Given the description of an element on the screen output the (x, y) to click on. 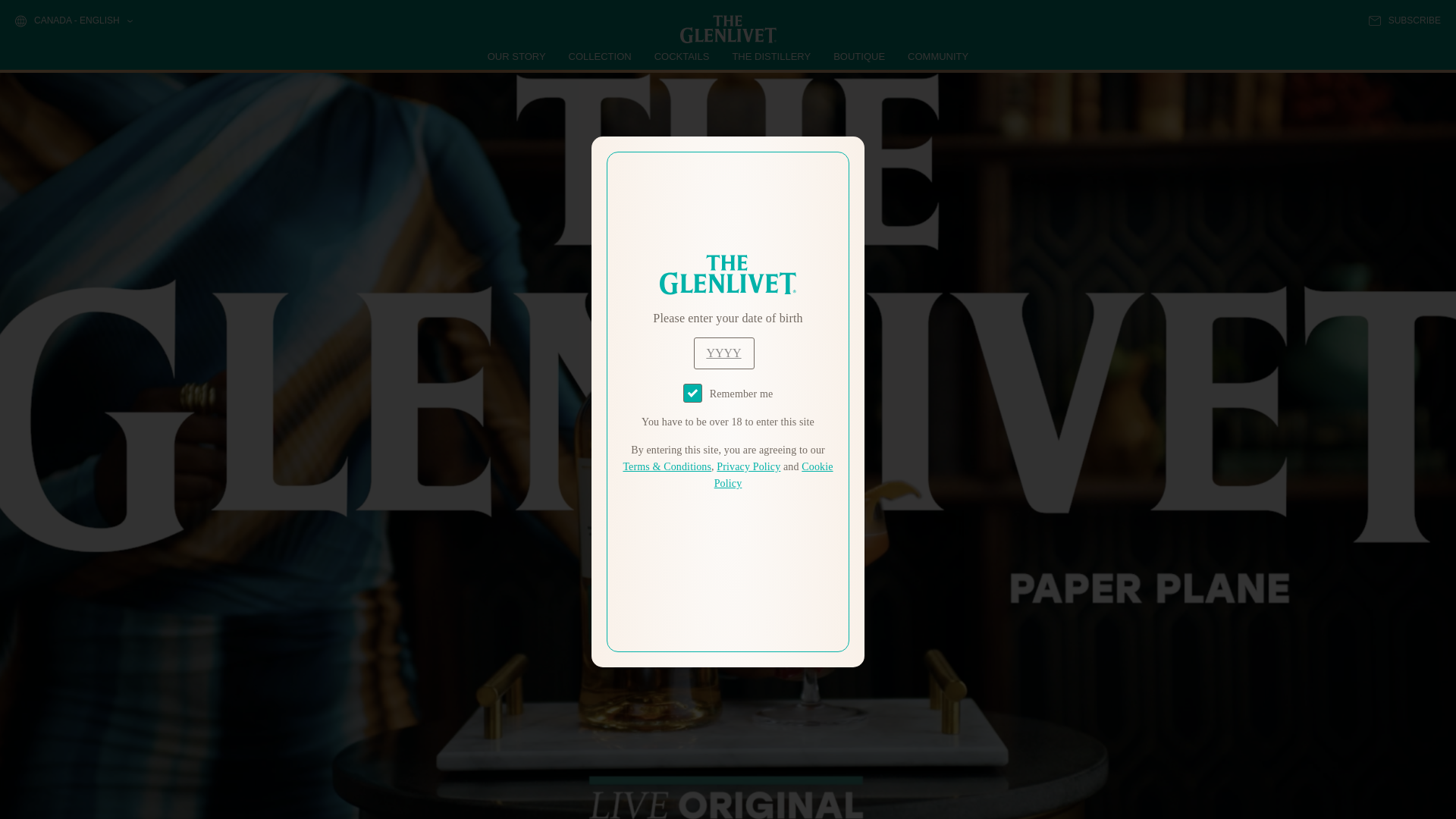
COCKTAILS (681, 56)
Privacy Policy (748, 466)
COMMUNITY (937, 56)
SUBSCRIBE (1404, 20)
BOUTIQUE (858, 56)
THE DISTILLERY (771, 56)
year (723, 353)
CANADA - ENGLISH (73, 21)
COLLECTION (600, 56)
Cookie Policy (773, 474)
